Given the description of an element on the screen output the (x, y) to click on. 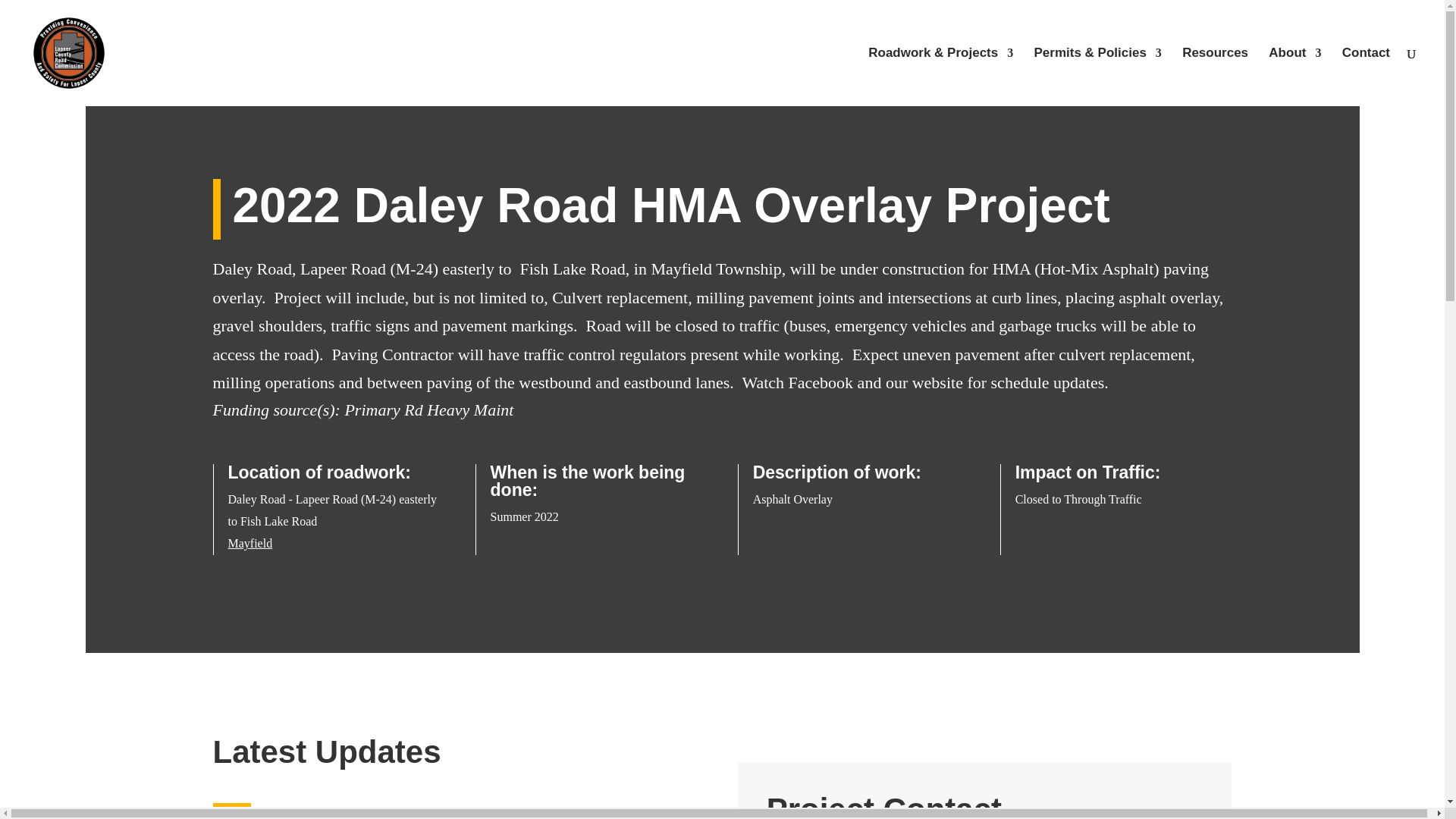
Resources (1214, 76)
Mayfield (249, 543)
About (1294, 76)
